Given the description of an element on the screen output the (x, y) to click on. 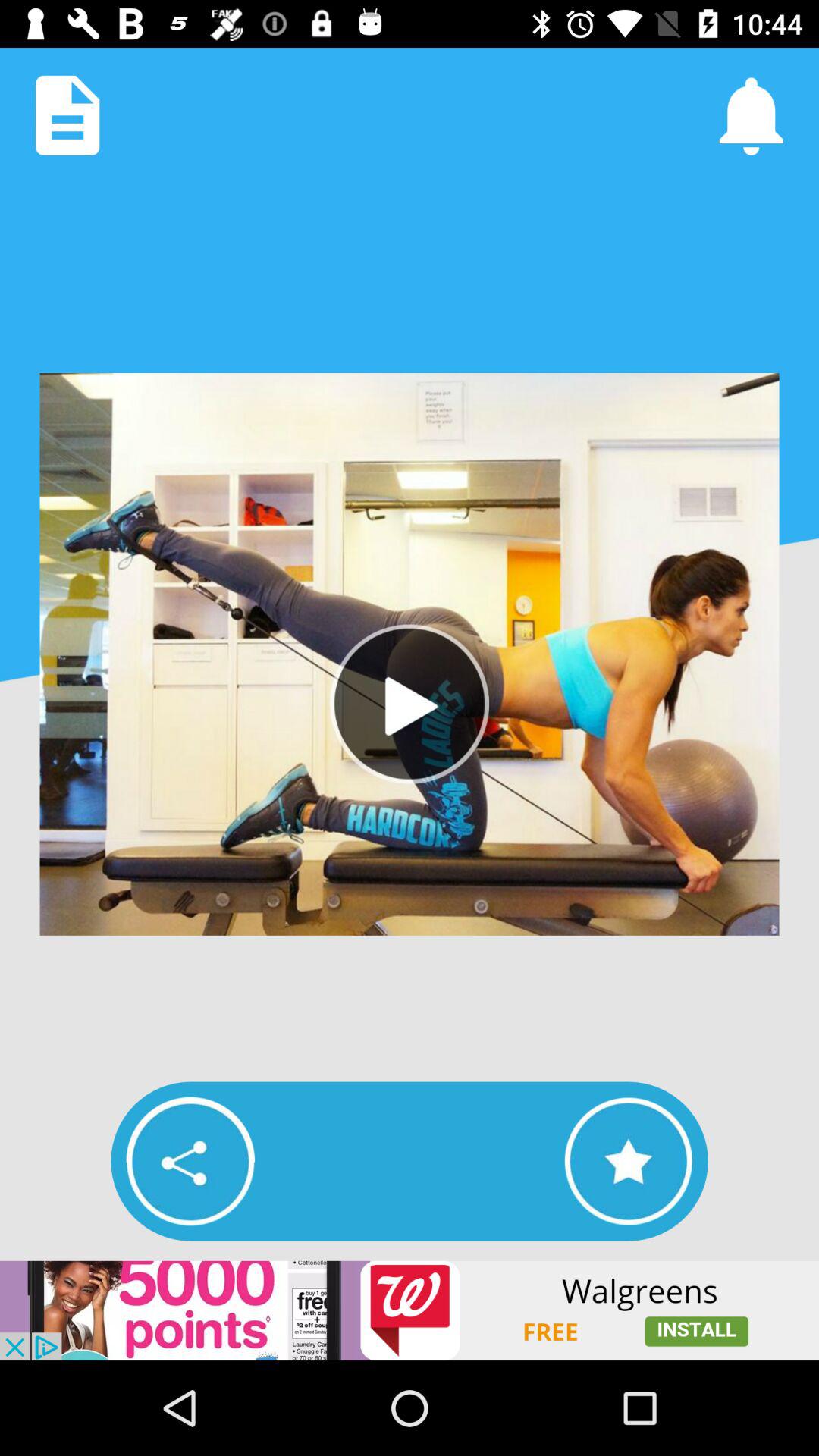
share link (190, 1161)
